Given the description of an element on the screen output the (x, y) to click on. 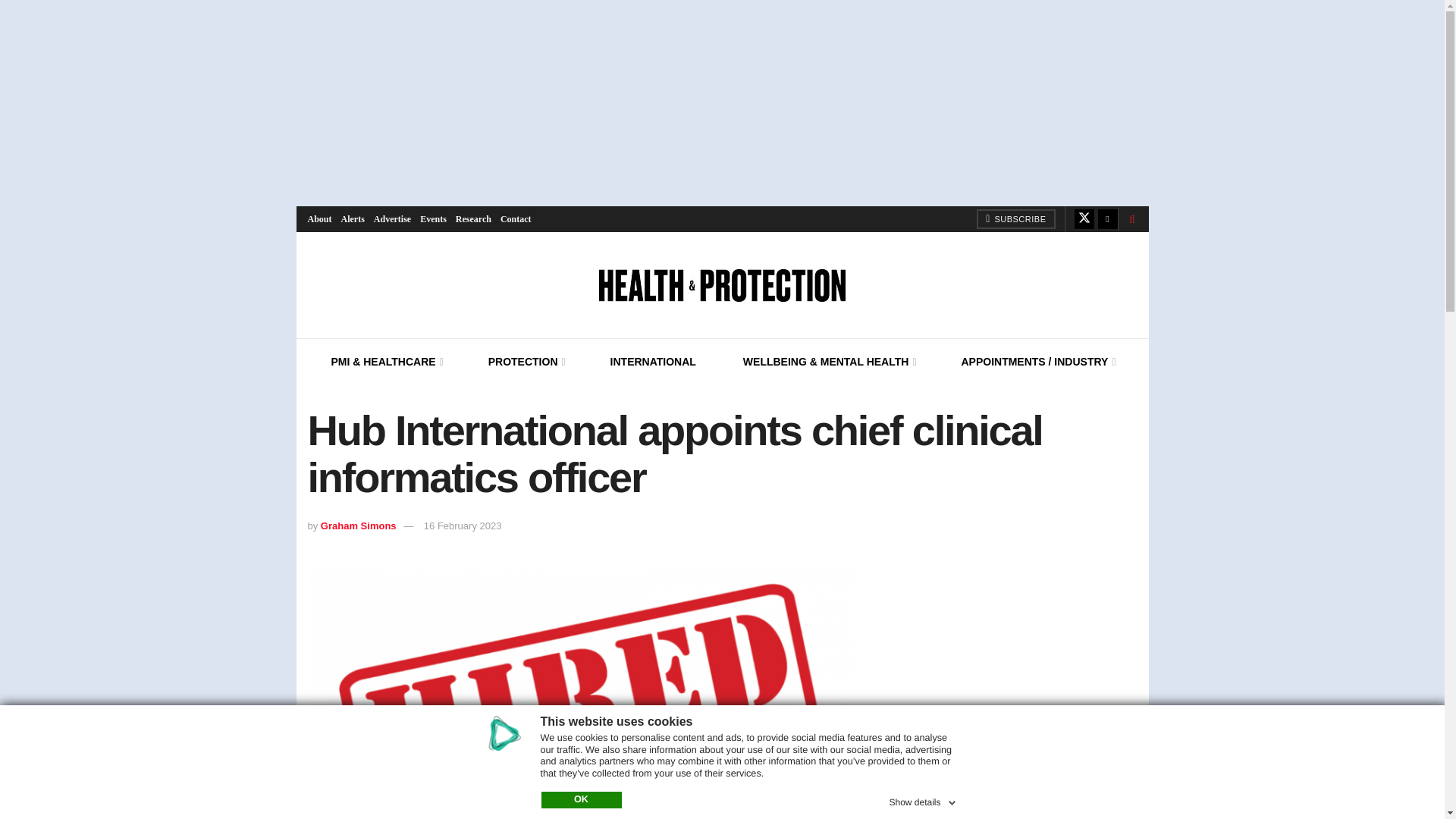
Show details (923, 799)
OK (581, 799)
